Given the description of an element on the screen output the (x, y) to click on. 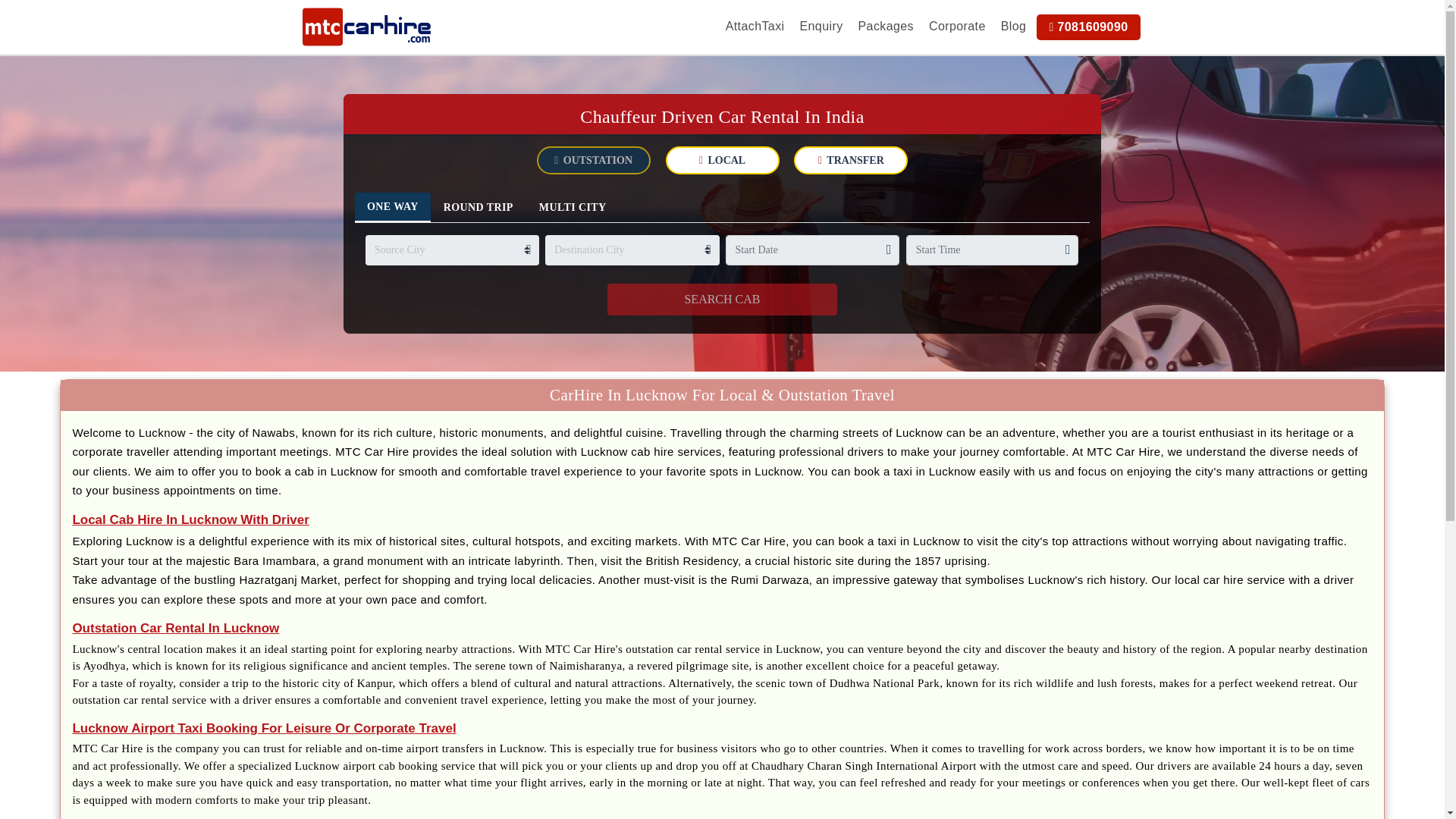
TRANSFER (850, 160)
MTC CarHire (365, 27)
7081609090 (1091, 26)
LOCAL (721, 160)
AttachTaxi (754, 26)
Blog (1013, 26)
SEARCH CAB (722, 299)
Enquiry (820, 26)
Packages (885, 26)
Corporate (957, 26)
